Given the description of an element on the screen output the (x, y) to click on. 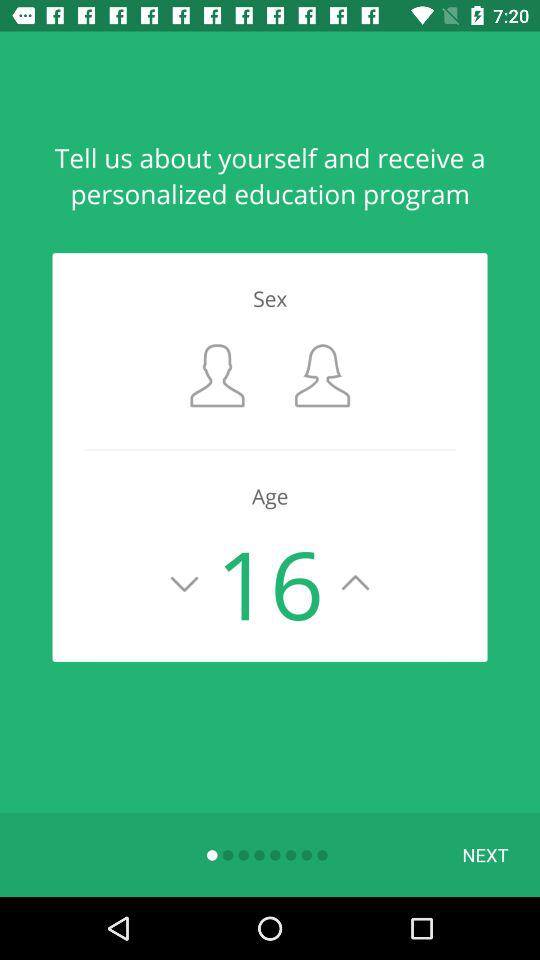
tap next item (485, 854)
